Given the description of an element on the screen output the (x, y) to click on. 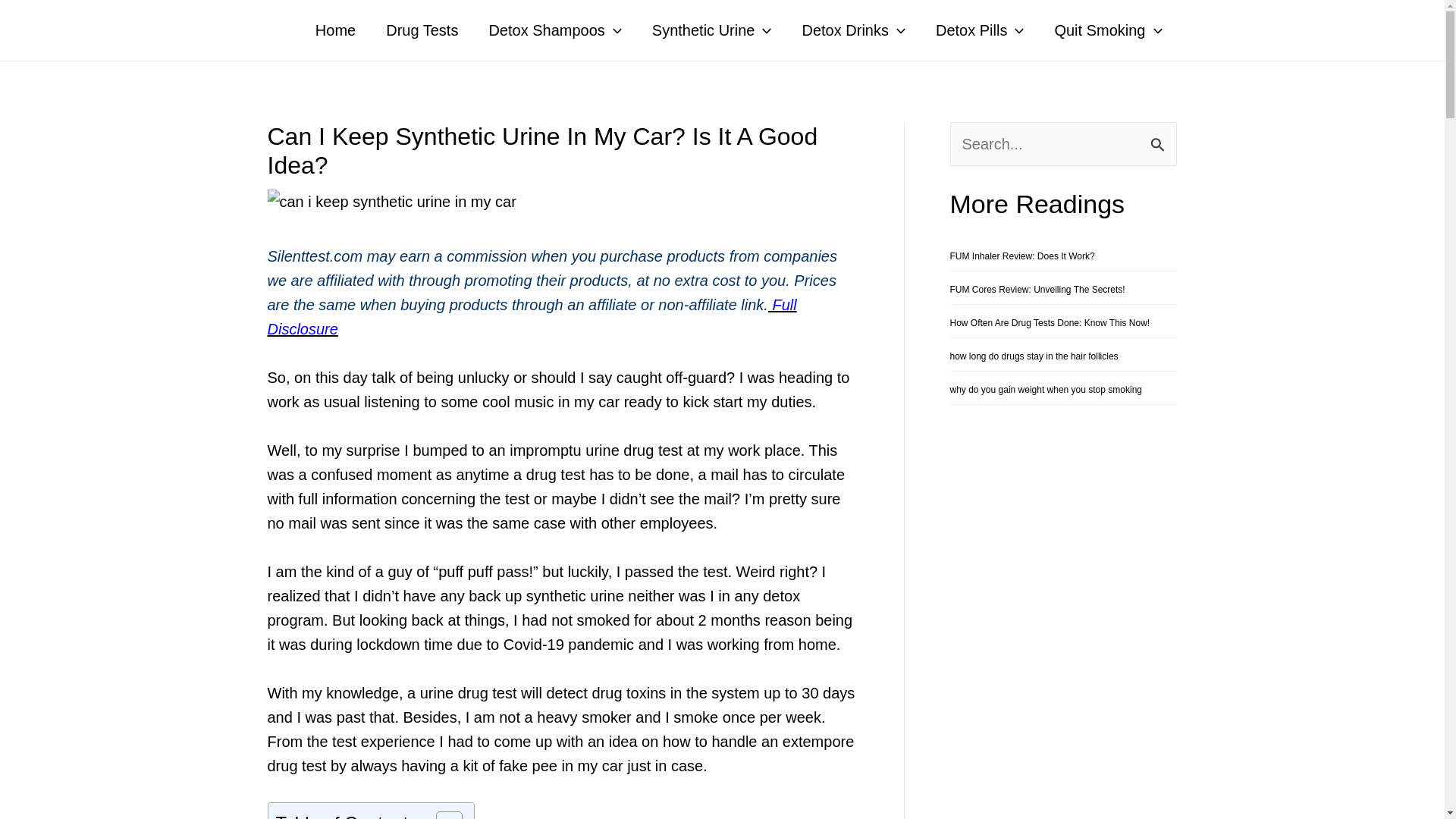
Quit Smoking (1107, 30)
Synthetic Urine (712, 30)
Search (1158, 139)
Drug Tests (422, 30)
Detox Drinks (853, 30)
Search (1158, 139)
Home (335, 30)
Can I Keep Synthetic Urine In My Car? Is It A Good Idea? 2 (390, 201)
Detox Pills (979, 30)
Detox Shampoos (554, 30)
